Given the description of an element on the screen output the (x, y) to click on. 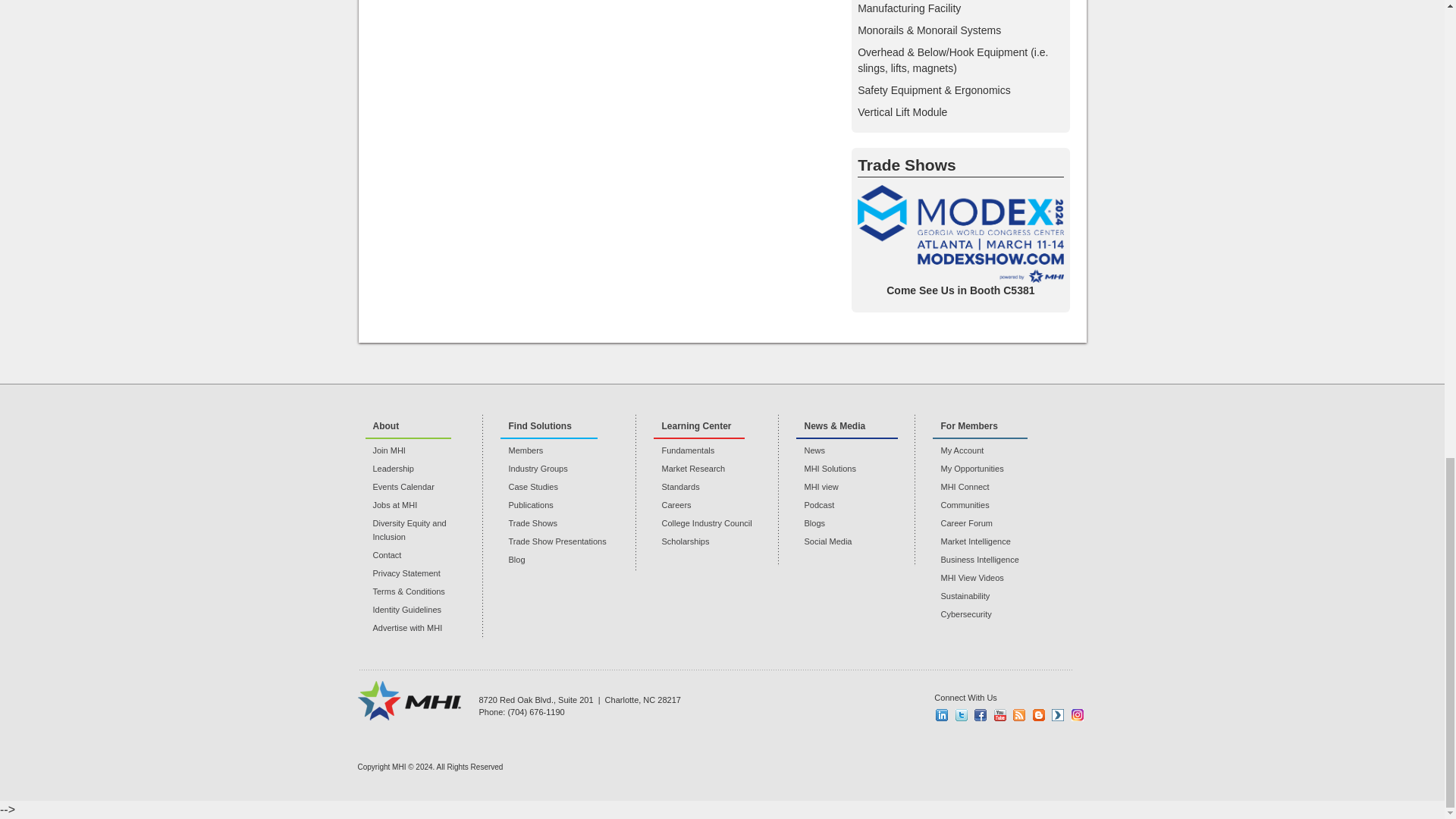
Join the MHI group on LinkedIn (941, 715)
Leadership (424, 468)
Jobs at MHI (424, 504)
Follow MHI on Twitter (961, 715)
Contact (424, 554)
Like MHI on Facebook (980, 715)
View Our Videos (1057, 715)
Subscribe to the MHI RSS feeds (1019, 715)
Read Our Blog (1038, 715)
Advertise with MHI (424, 627)
